Given the description of an element on the screen output the (x, y) to click on. 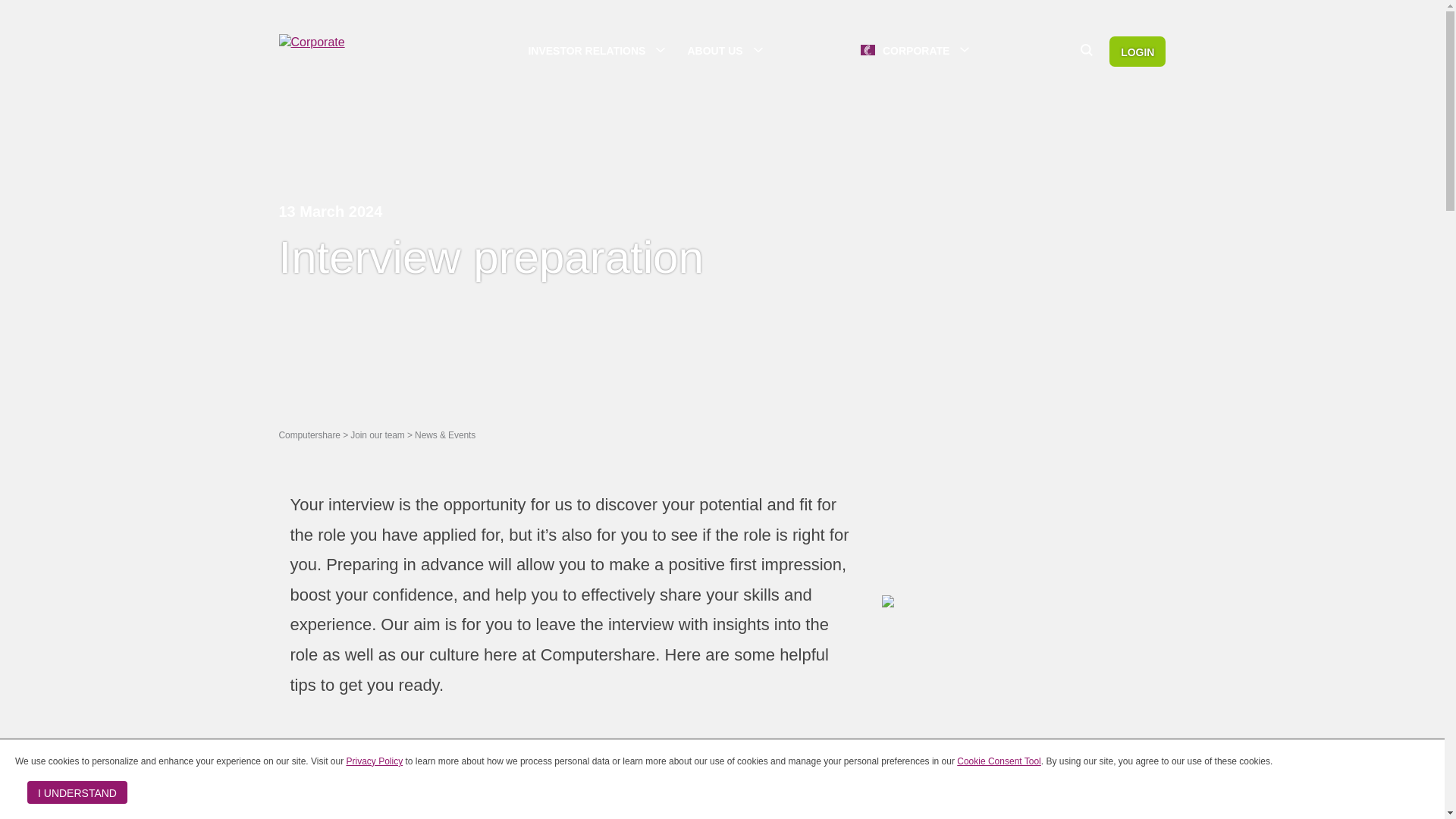
ABOUT US (724, 50)
Corporate (346, 42)
INVESTOR RELATIONS (595, 50)
CORPORATE (917, 50)
